Given the description of an element on the screen output the (x, y) to click on. 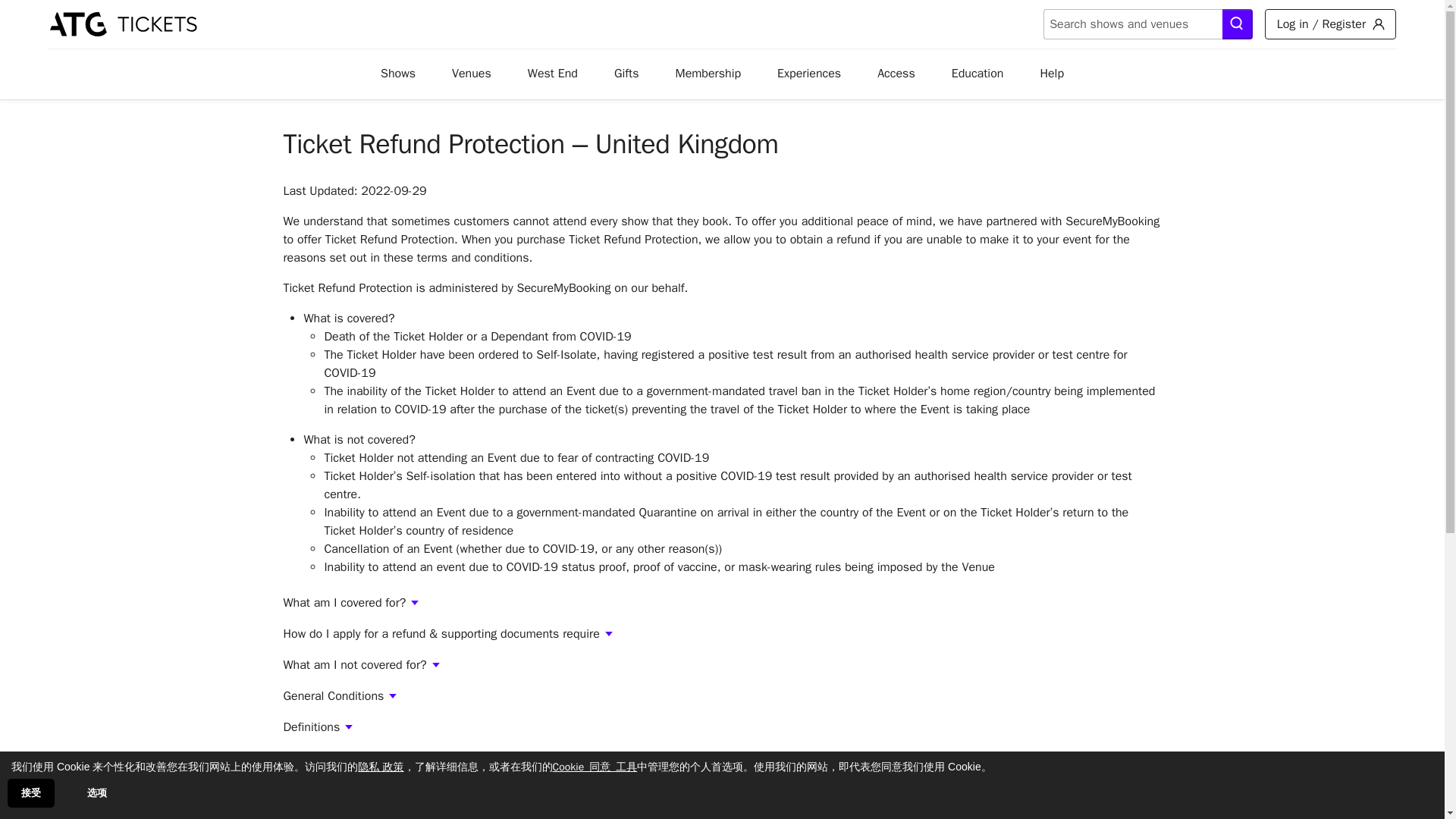
Experiences (809, 74)
Shows (398, 74)
Access (895, 74)
Venues (471, 74)
Help (1051, 74)
Education (977, 74)
West End (552, 74)
Gifts (626, 74)
Search (1237, 24)
Membership (708, 74)
